Given the description of an element on the screen output the (x, y) to click on. 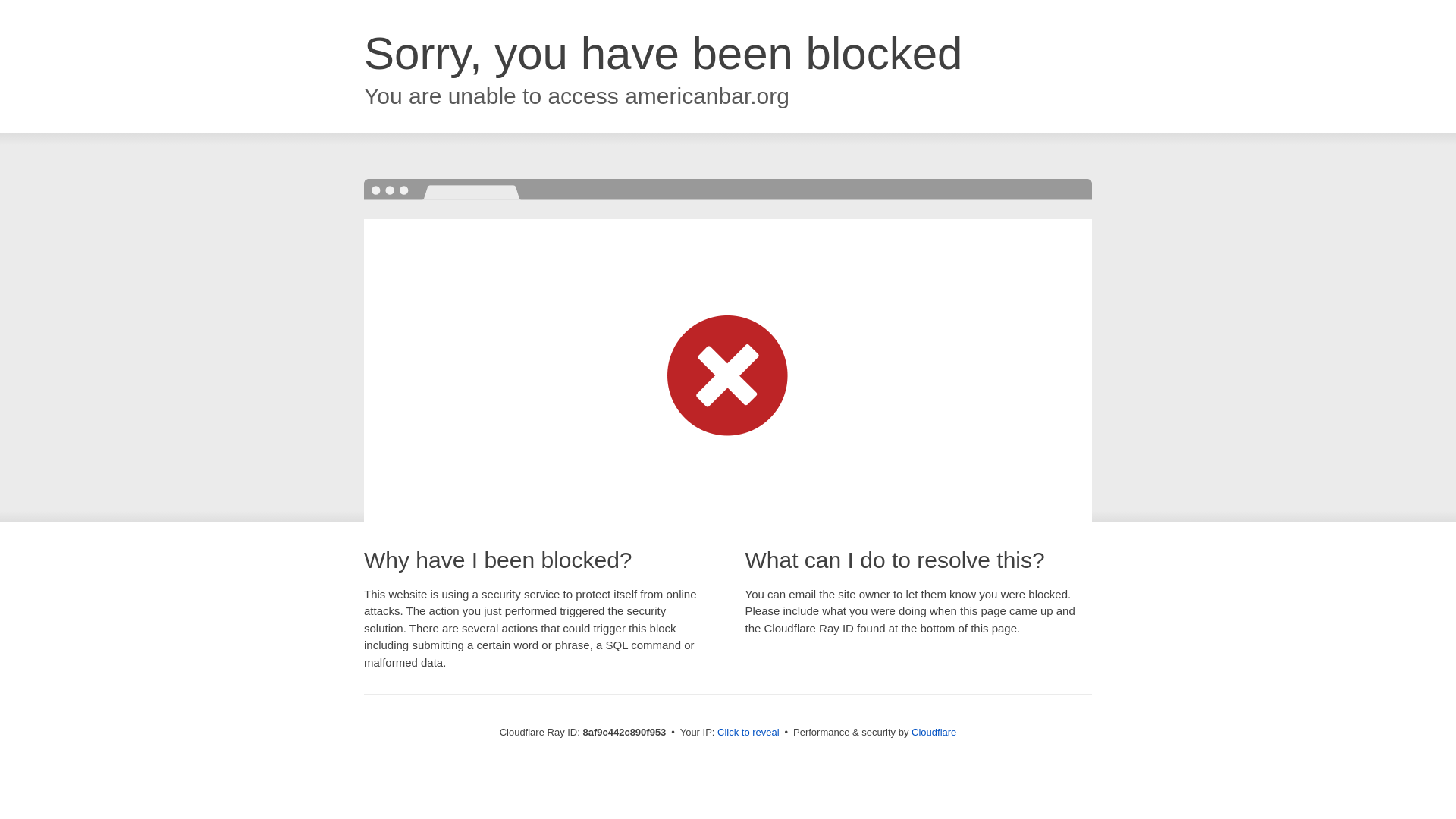
Cloudflare (933, 731)
Click to reveal (747, 732)
